Given the description of an element on the screen output the (x, y) to click on. 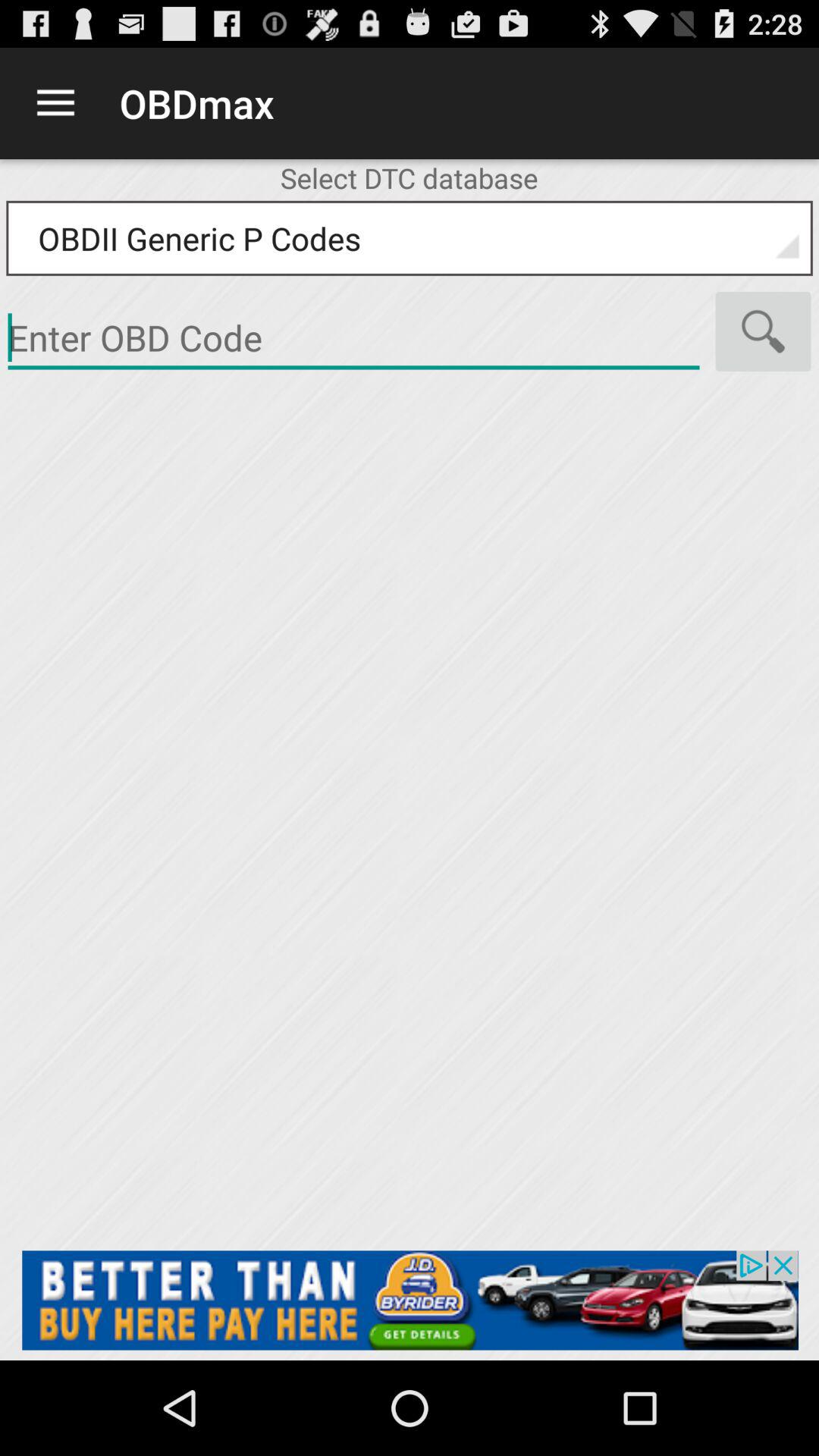
go to search box (353, 338)
